Given the description of an element on the screen output the (x, y) to click on. 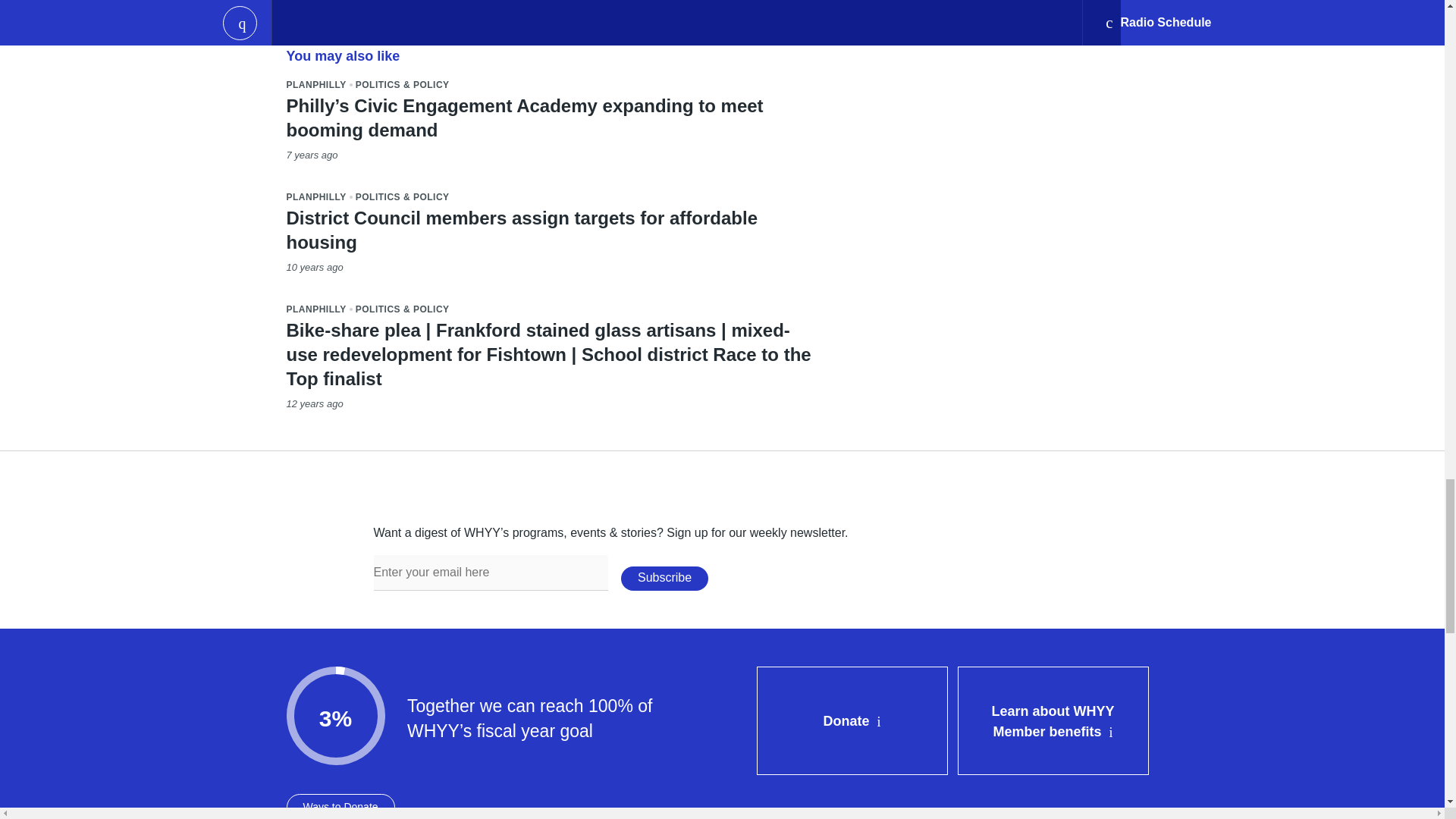
Subscribe (664, 578)
